Given the description of an element on the screen output the (x, y) to click on. 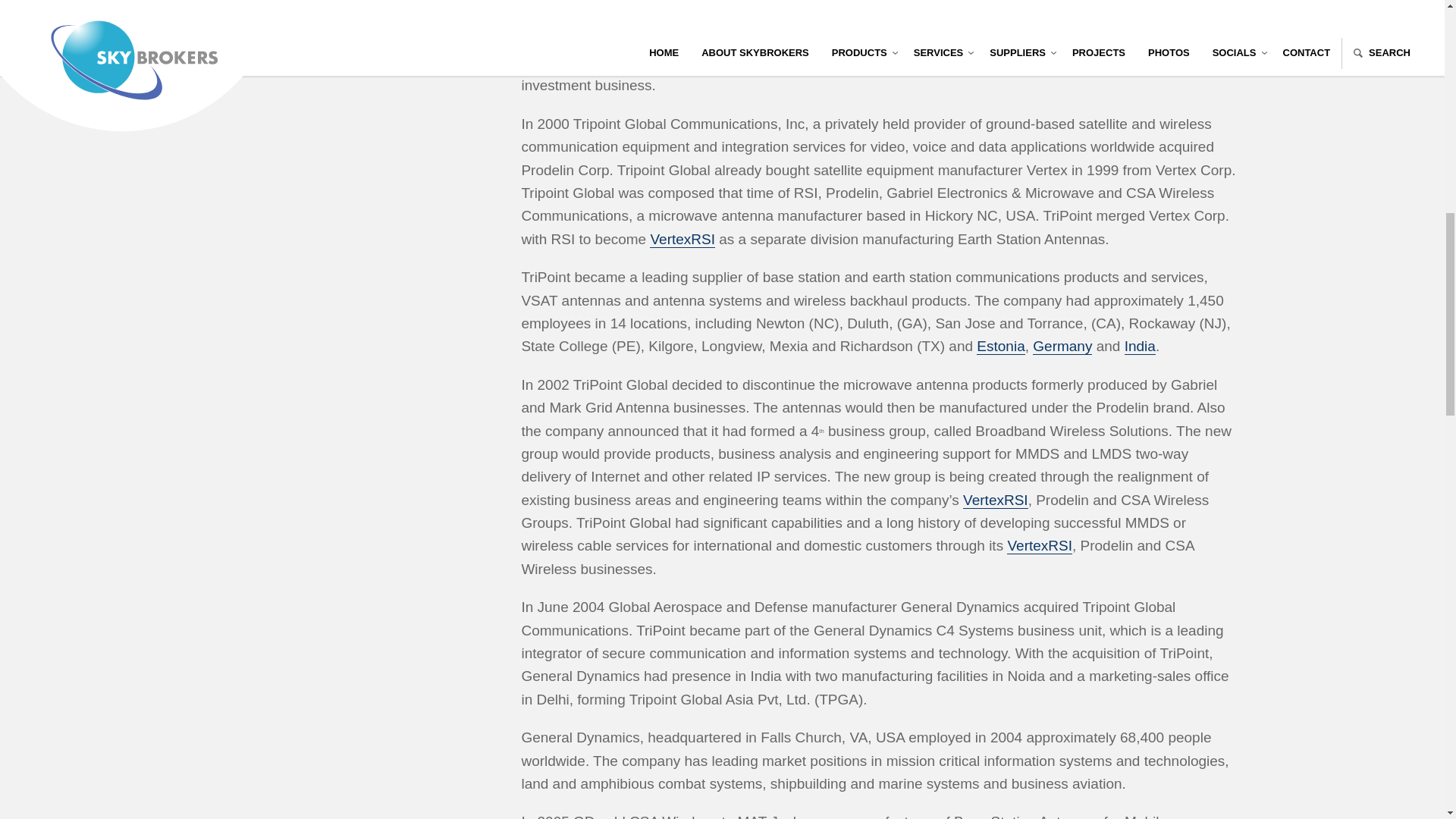
Follow Skybrokers on Linkedin (348, 4)
Follow Skybrokers on Twitter (248, 4)
Follow Skybrokers on Instagram (315, 4)
Follow Skybrokers on Pinterest (381, 4)
Follow Skybrokers on Youtube (282, 4)
Follow Skybrokers on Facebook (215, 4)
